Given the description of an element on the screen output the (x, y) to click on. 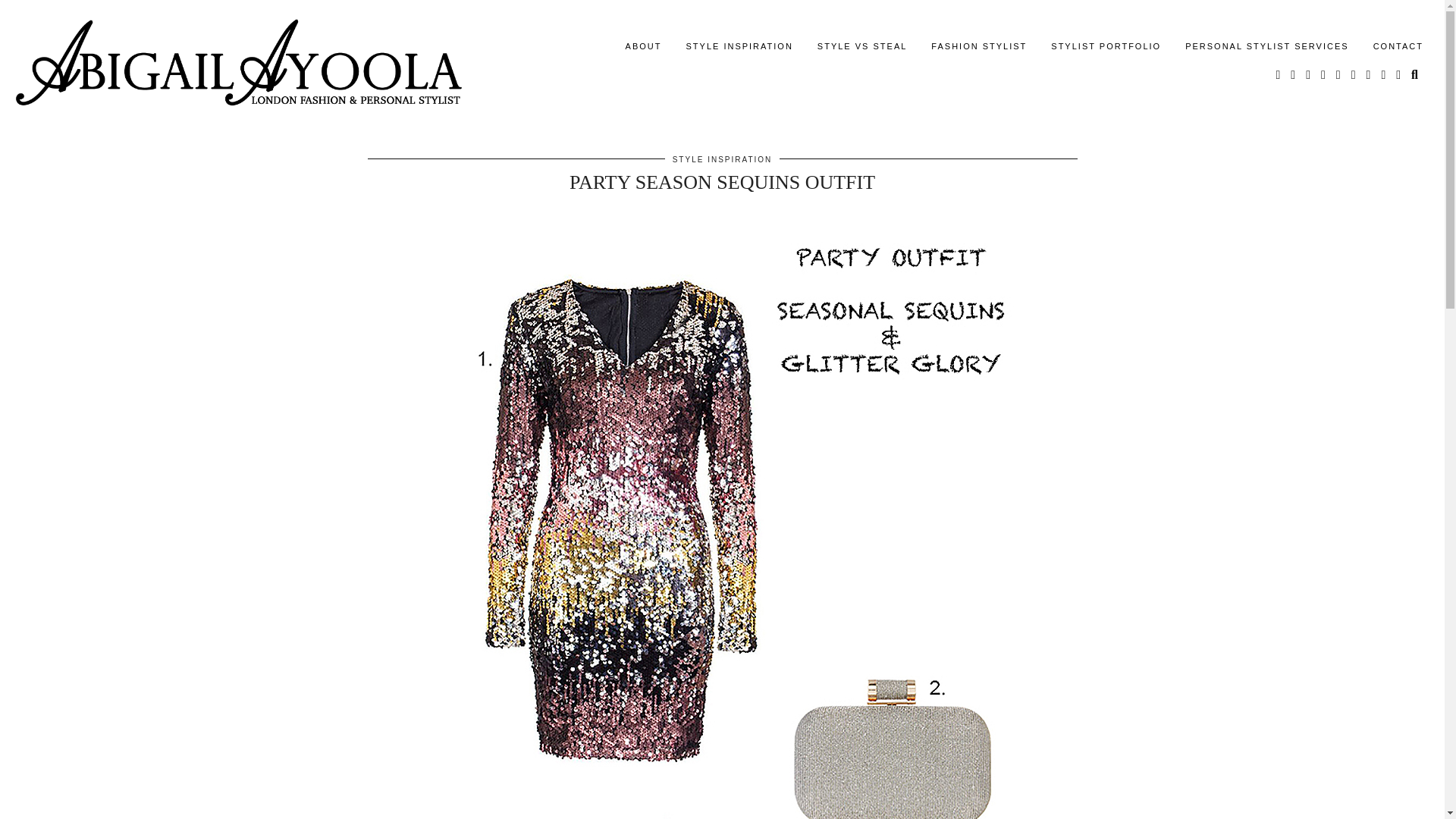
ABOUT (643, 45)
